Given the description of an element on the screen output the (x, y) to click on. 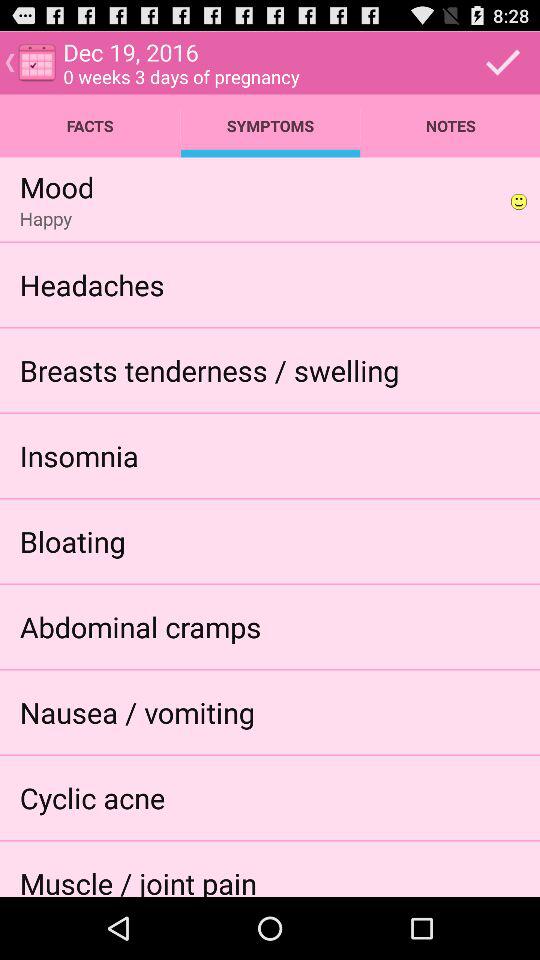
click the app below the headaches app (209, 369)
